Given the description of an element on the screen output the (x, y) to click on. 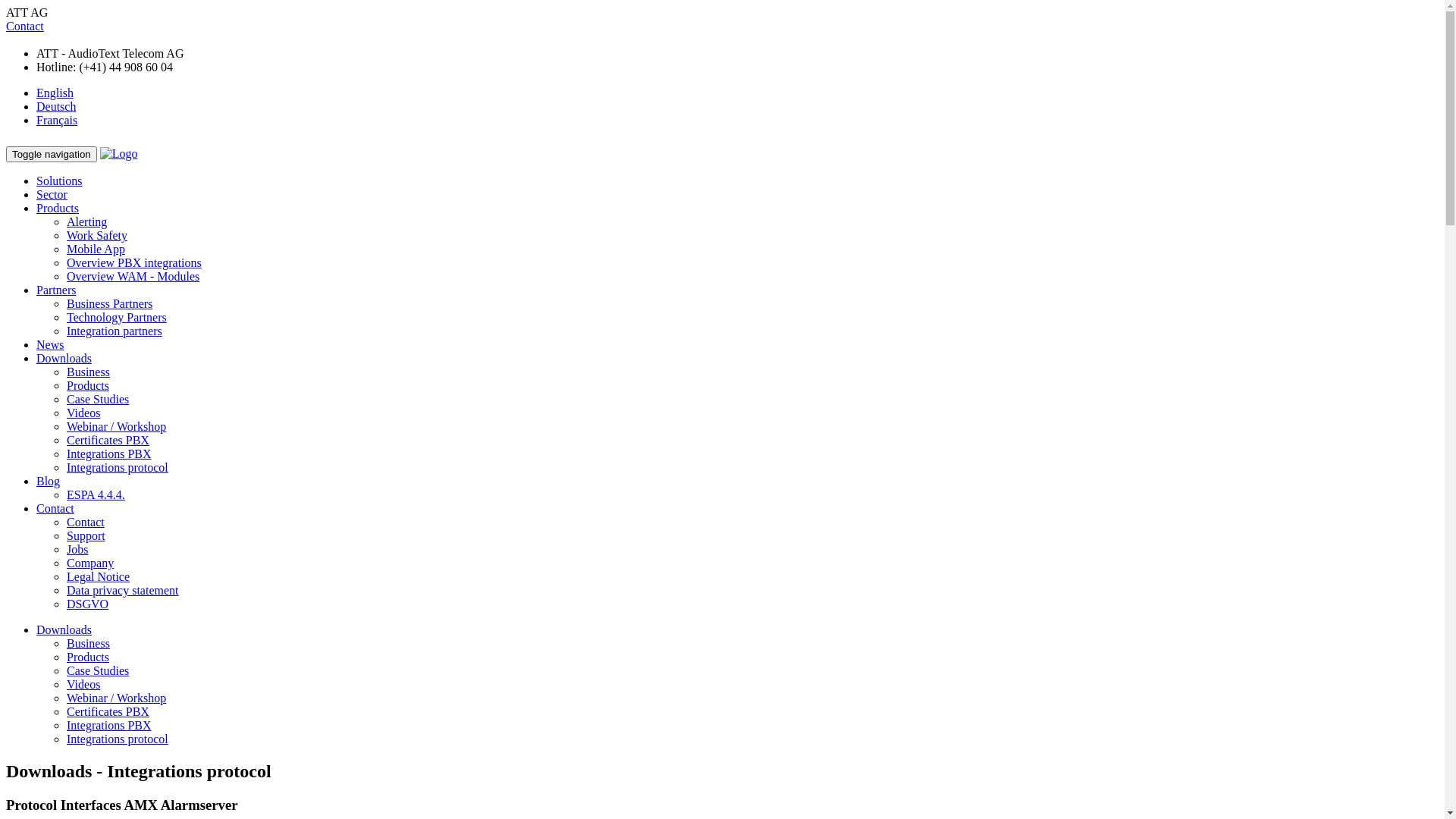
Contact Element type: text (24, 25)
Mobile App Element type: text (95, 248)
Work Safety Element type: text (96, 235)
Integration partners Element type: text (114, 330)
Videos Element type: text (83, 683)
Business Element type: text (87, 643)
ESPA 4.4.4. Element type: text (95, 494)
Legal Notice Element type: text (97, 576)
Partners Element type: text (55, 289)
Webinar / Workshop Element type: text (116, 697)
Case Studies Element type: text (97, 398)
Overview PBX integrations Element type: text (133, 262)
Business Element type: text (87, 371)
Toggle navigation Element type: text (51, 154)
Support Element type: text (85, 535)
Technology Partners Element type: text (116, 316)
Downloads Element type: text (63, 629)
Downloads Element type: text (63, 357)
Sector Element type: text (51, 194)
Overview WAM - Modules Element type: text (132, 275)
Data privacy statement Element type: text (122, 589)
News Element type: text (49, 344)
Webinar / Workshop Element type: text (116, 426)
Products Element type: text (57, 207)
Integrations protocol Element type: text (117, 467)
Jobs Element type: text (76, 548)
Deutsch Element type: text (55, 106)
Videos Element type: text (83, 412)
Alerting Element type: text (86, 221)
Products Element type: text (87, 385)
Contact Element type: text (85, 521)
Solutions Element type: text (58, 180)
Integrations protocol Element type: text (117, 738)
Company Element type: text (89, 562)
Contact Element type: text (55, 508)
DSGVO Element type: text (87, 603)
English Element type: text (54, 92)
Certificates PBX Element type: text (107, 711)
Case Studies Element type: text (97, 670)
Blog Element type: text (47, 480)
Products Element type: text (87, 656)
Integrations PBX Element type: text (108, 724)
Certificates PBX Element type: text (107, 439)
Business Partners Element type: text (109, 303)
Integrations PBX Element type: text (108, 453)
